Given the description of an element on the screen output the (x, y) to click on. 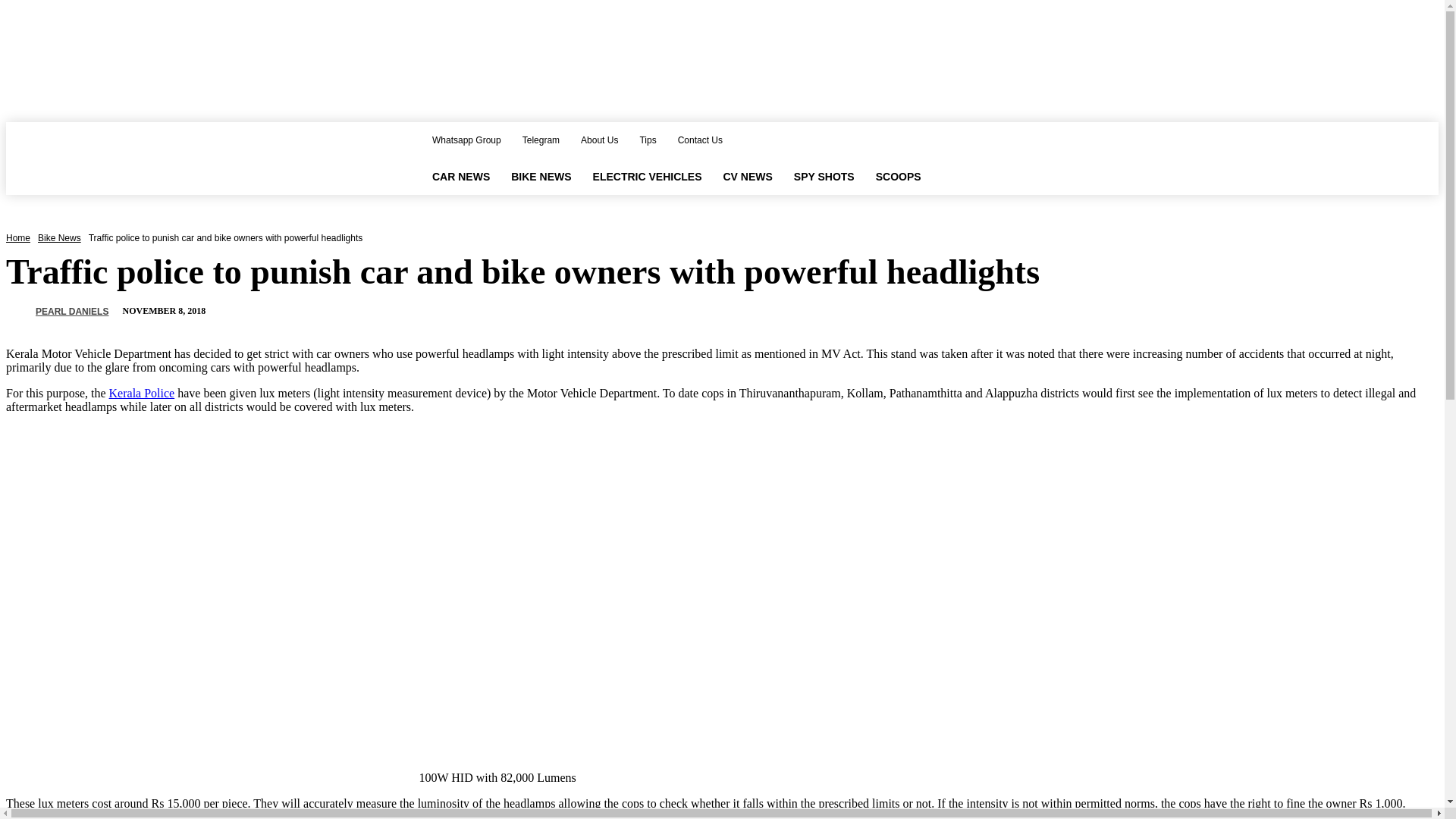
Home (17, 237)
Tips (647, 140)
View all posts in Bike News (59, 237)
About Us (599, 140)
BIKE NEWS (540, 176)
SCOOPS (897, 176)
ELECTRIC VEHICLES (647, 176)
SPY SHOTS (823, 176)
CV NEWS (747, 176)
Telegram (541, 140)
CAR NEWS (461, 176)
rushlane logo (195, 158)
Whatsapp Group (467, 140)
rushlane logo (198, 158)
Contact Us (699, 140)
